Given the description of an element on the screen output the (x, y) to click on. 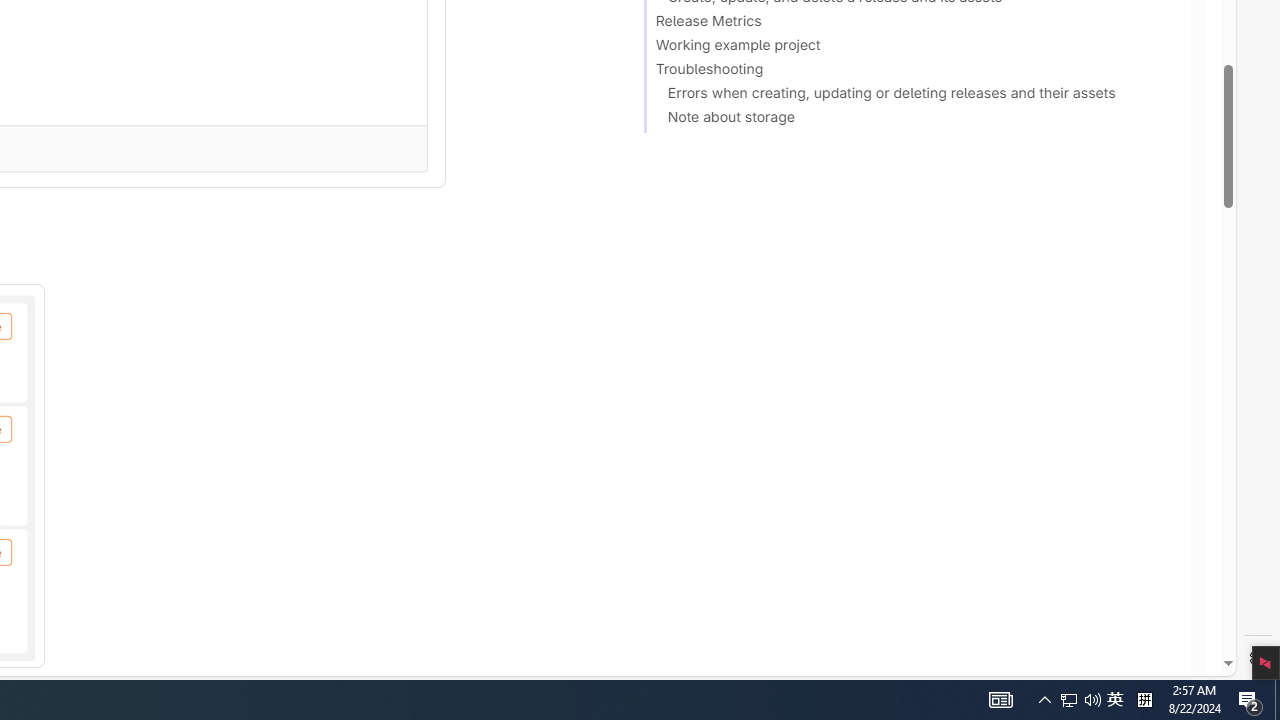
Release Metrics (908, 24)
Troubleshooting (908, 71)
Working example project (908, 48)
Release Metrics (908, 24)
Troubleshooting (908, 71)
Note about storage (908, 120)
Note about storage (908, 120)
Working example project (908, 48)
